Given the description of an element on the screen output the (x, y) to click on. 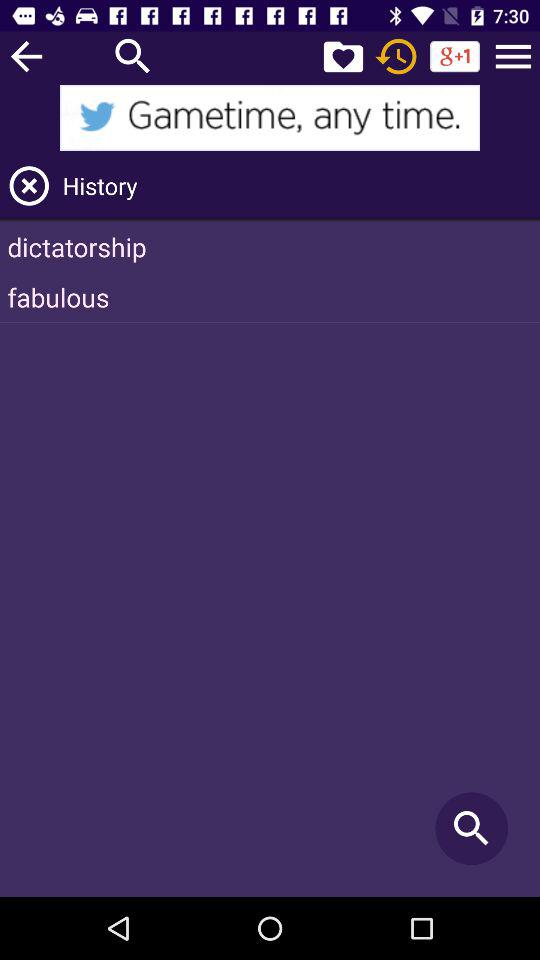
send tweet (270, 117)
